Given the description of an element on the screen output the (x, y) to click on. 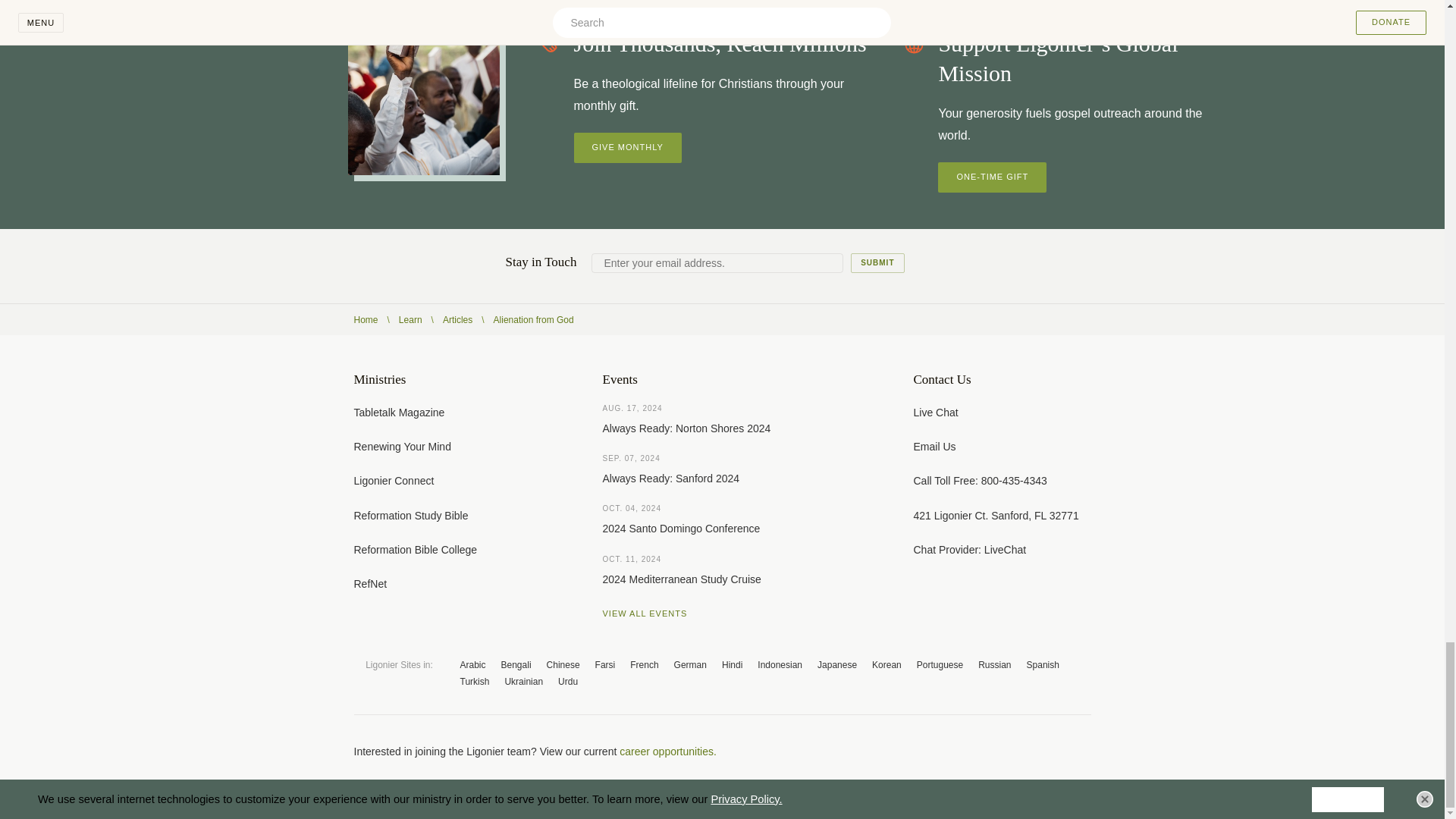
Facebook (962, 751)
Instagram (1053, 751)
YouTube (1023, 751)
X (993, 751)
